Given the description of an element on the screen output the (x, y) to click on. 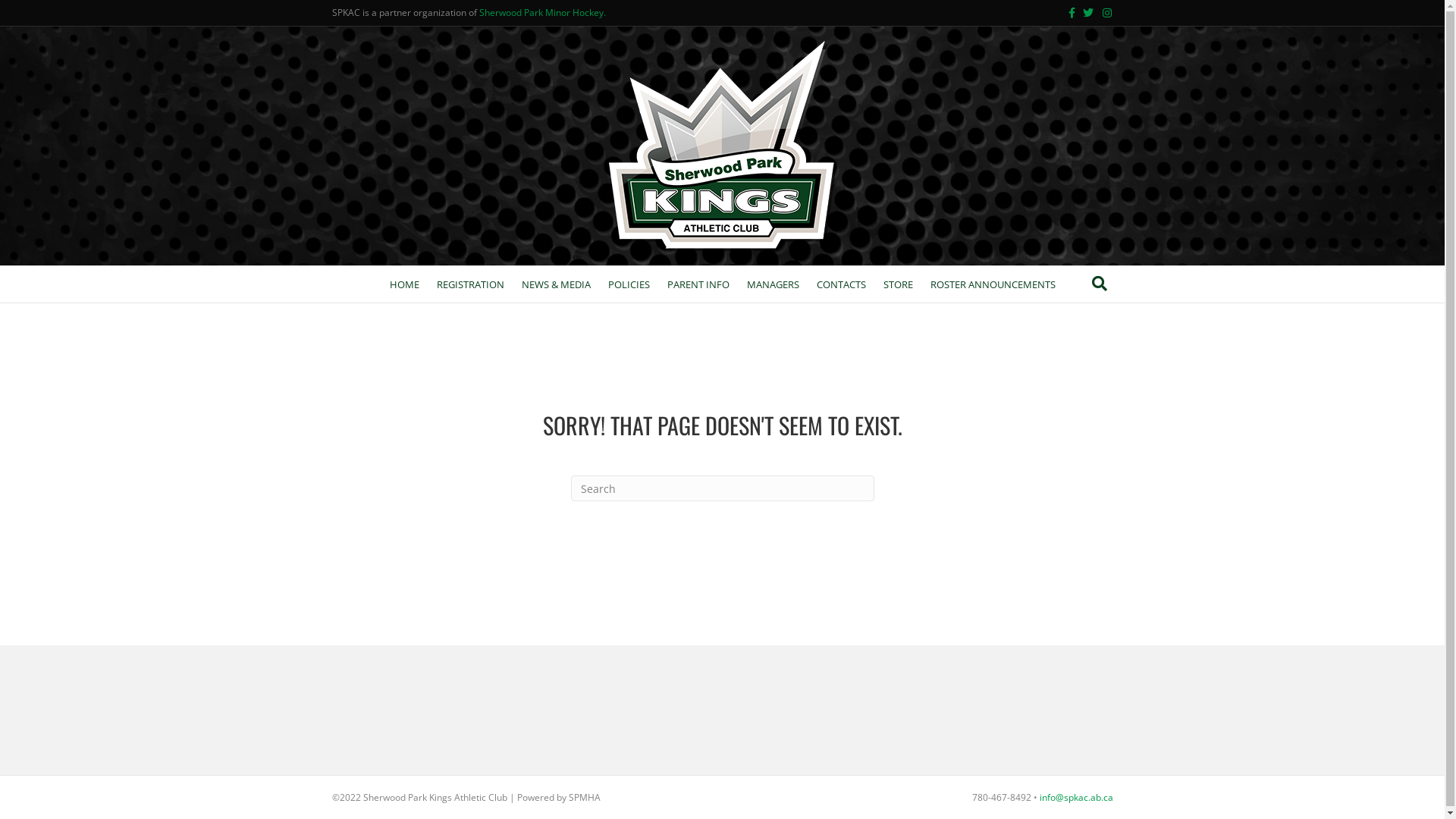
PARENT INFO Element type: text (698, 284)
CONTACTS Element type: text (840, 284)
STORE Element type: text (897, 284)
Sherwood Park Minor Hockey. Element type: text (542, 12)
REGISTRATION Element type: text (470, 284)
HOME Element type: text (404, 284)
Twitter Element type: text (1084, 11)
Facebook Element type: text (1066, 11)
info@spkac.ab.ca Element type: text (1075, 796)
ROSTER ANNOUNCEMENTS Element type: text (992, 284)
POLICIES Element type: text (628, 284)
NEWS & MEDIA Element type: text (556, 284)
Type and press Enter to search. Element type: hover (721, 488)
Instagram Element type: text (1102, 11)
MANAGERS Element type: text (772, 284)
